Given the description of an element on the screen output the (x, y) to click on. 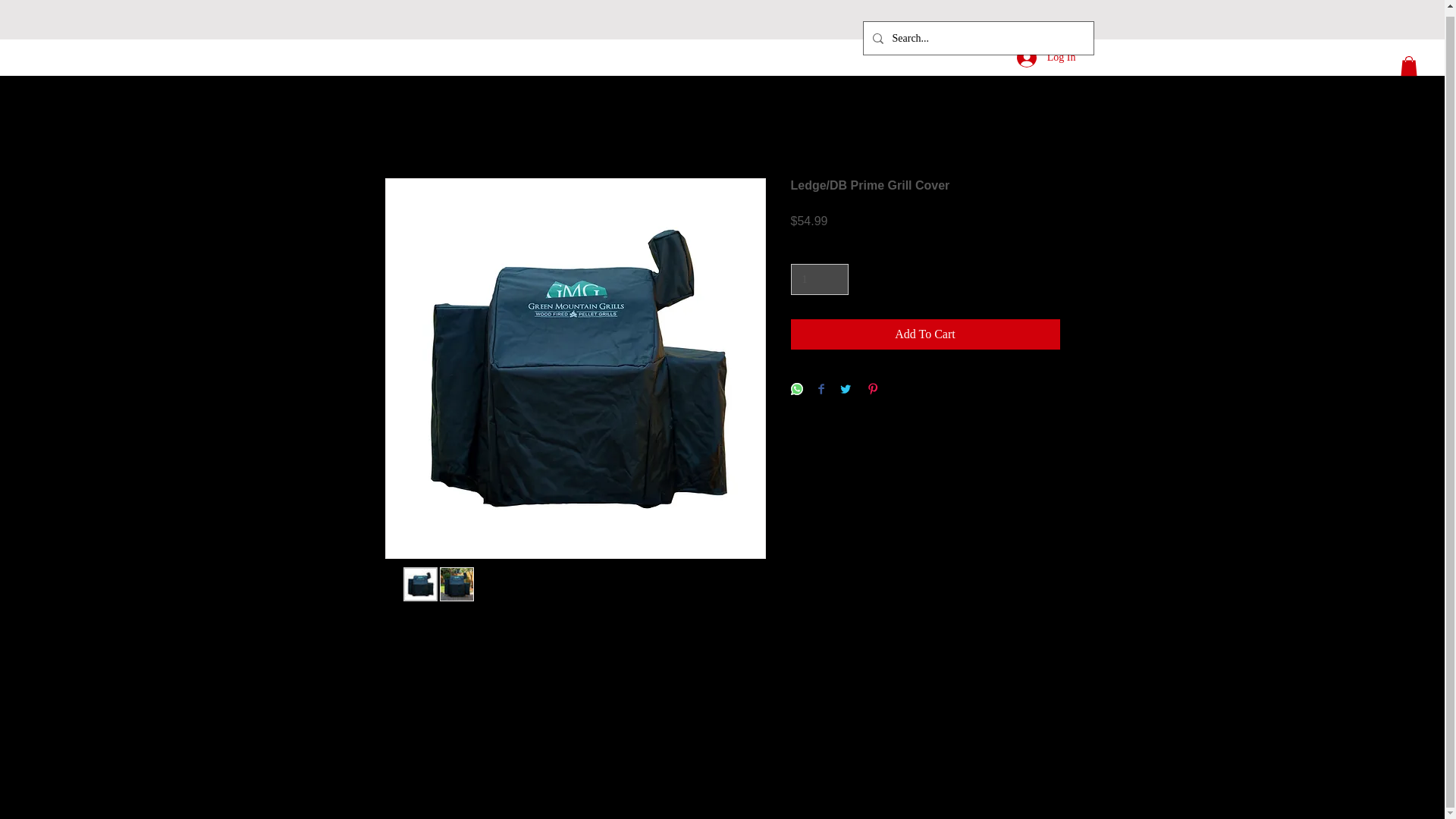
Add To Cart (924, 334)
SHOP PELLET GRILLS (314, 97)
HOME (187, 97)
SHOP WEBSITE (475, 97)
Log In (1046, 51)
1 (818, 278)
